Given the description of an element on the screen output the (x, y) to click on. 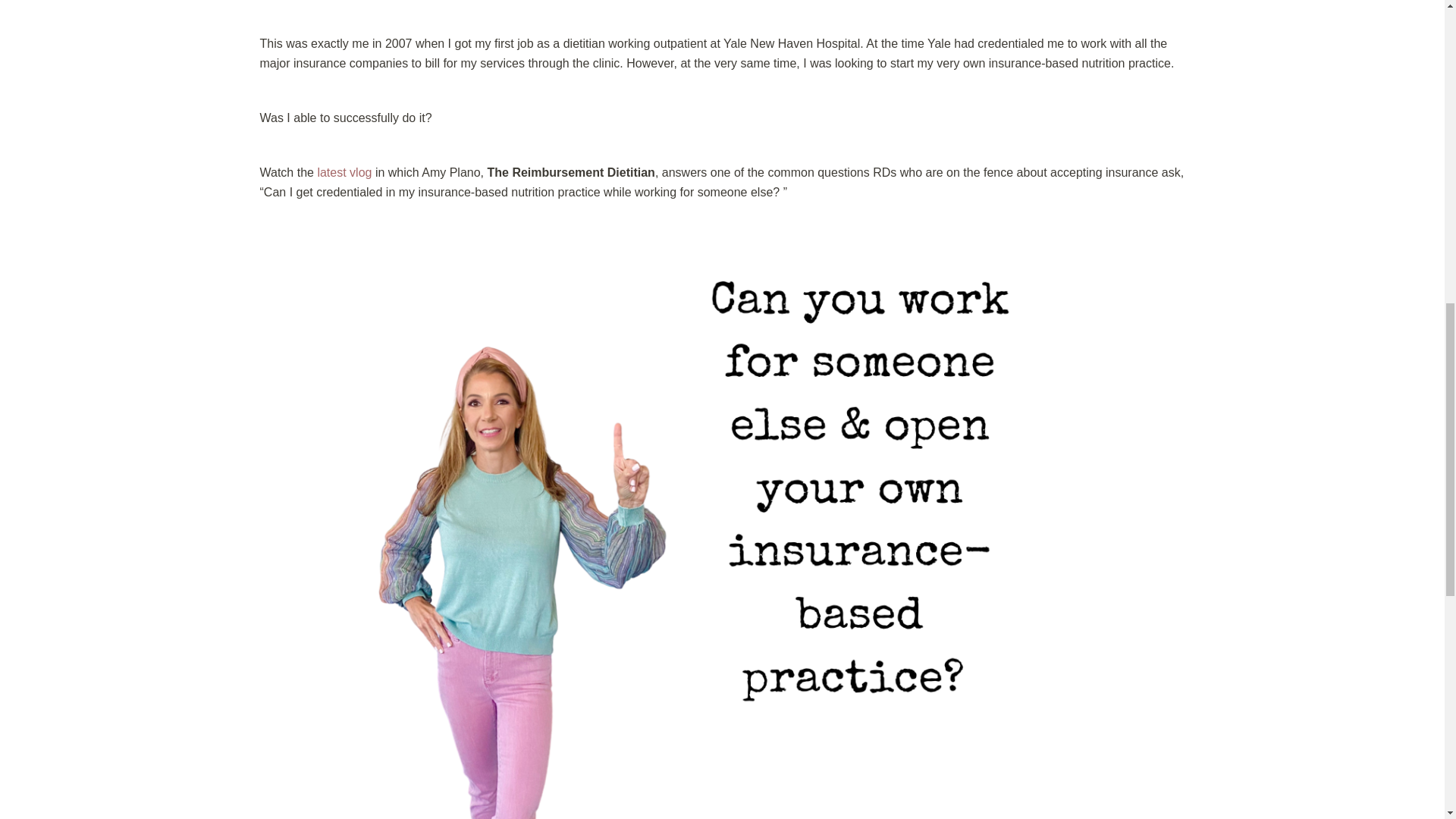
latest vlog (344, 172)
